Given the description of an element on the screen output the (x, y) to click on. 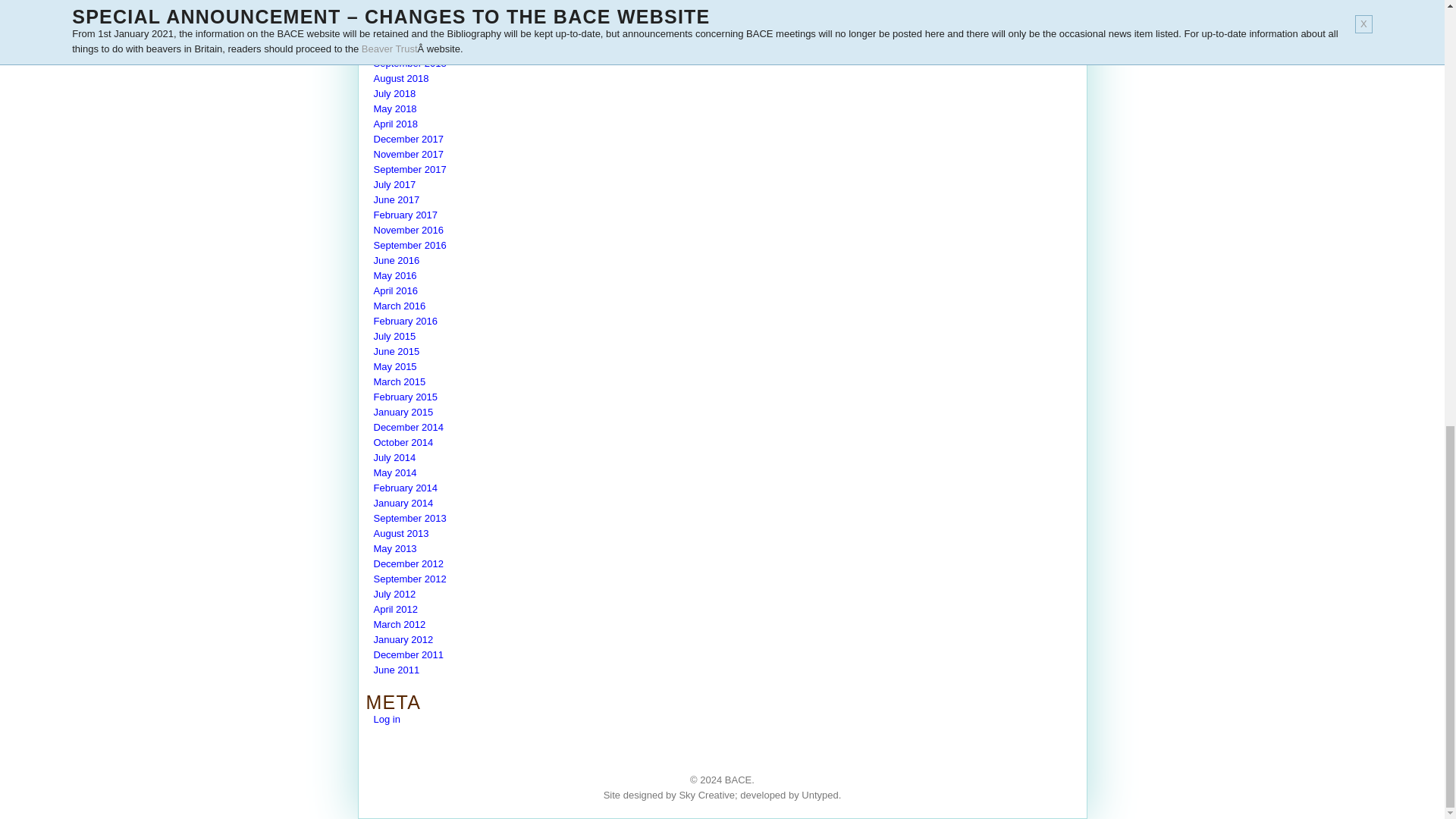
Beavers in England (738, 779)
